Given the description of an element on the screen output the (x, y) to click on. 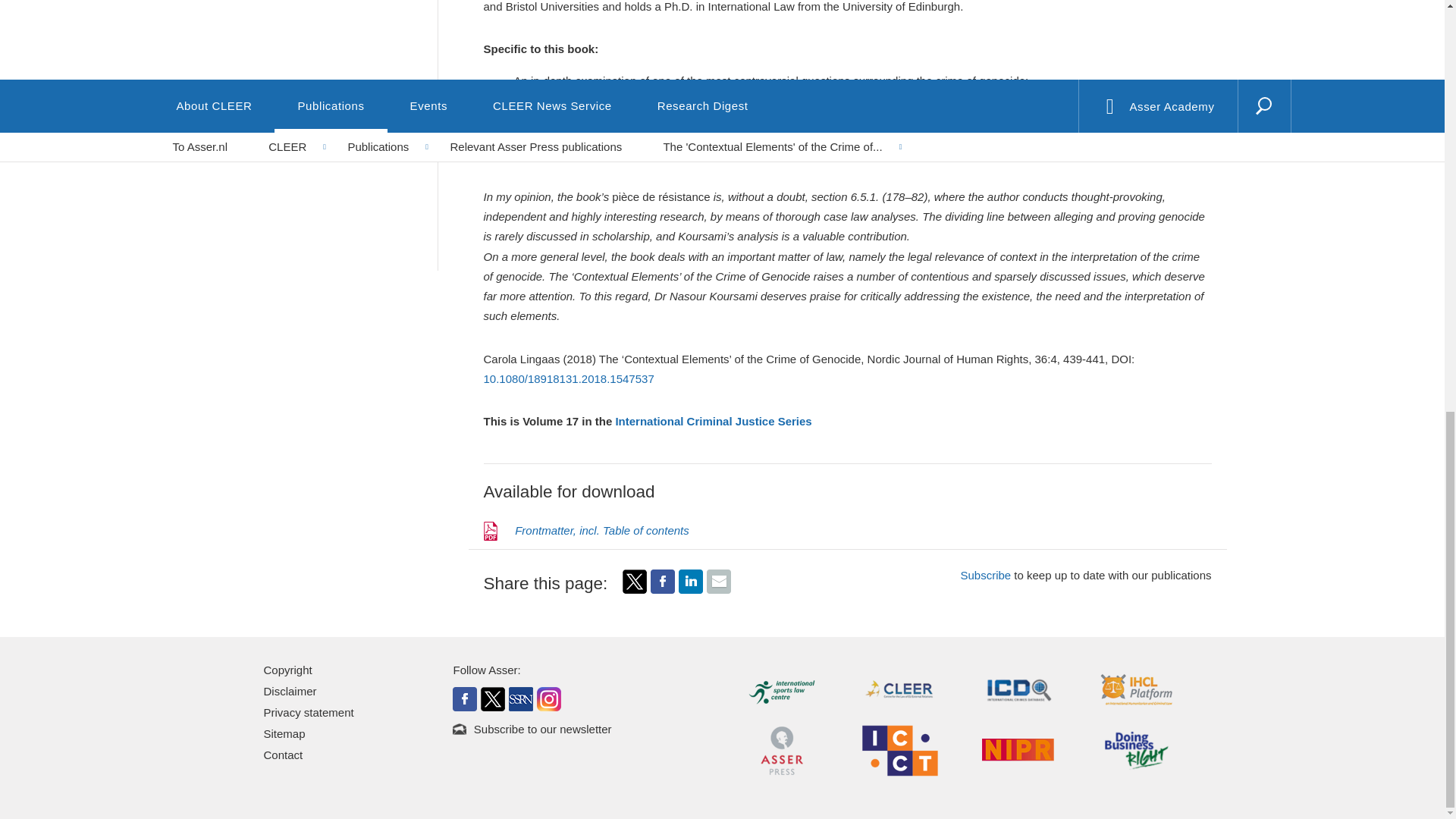
LinkedIn (690, 589)
Facebook (662, 589)
Tweet (634, 589)
Email (718, 581)
Like us on Facebook (464, 697)
Cleer (899, 688)
NIPR Online (1018, 748)
Facebook (662, 581)
IHCL Platform (1136, 688)
LinkedIn (690, 581)
Email (718, 589)
Tweet (634, 581)
Follow us on Instagram (548, 697)
ICCT (899, 748)
Asser Press (781, 748)
